Given the description of an element on the screen output the (x, y) to click on. 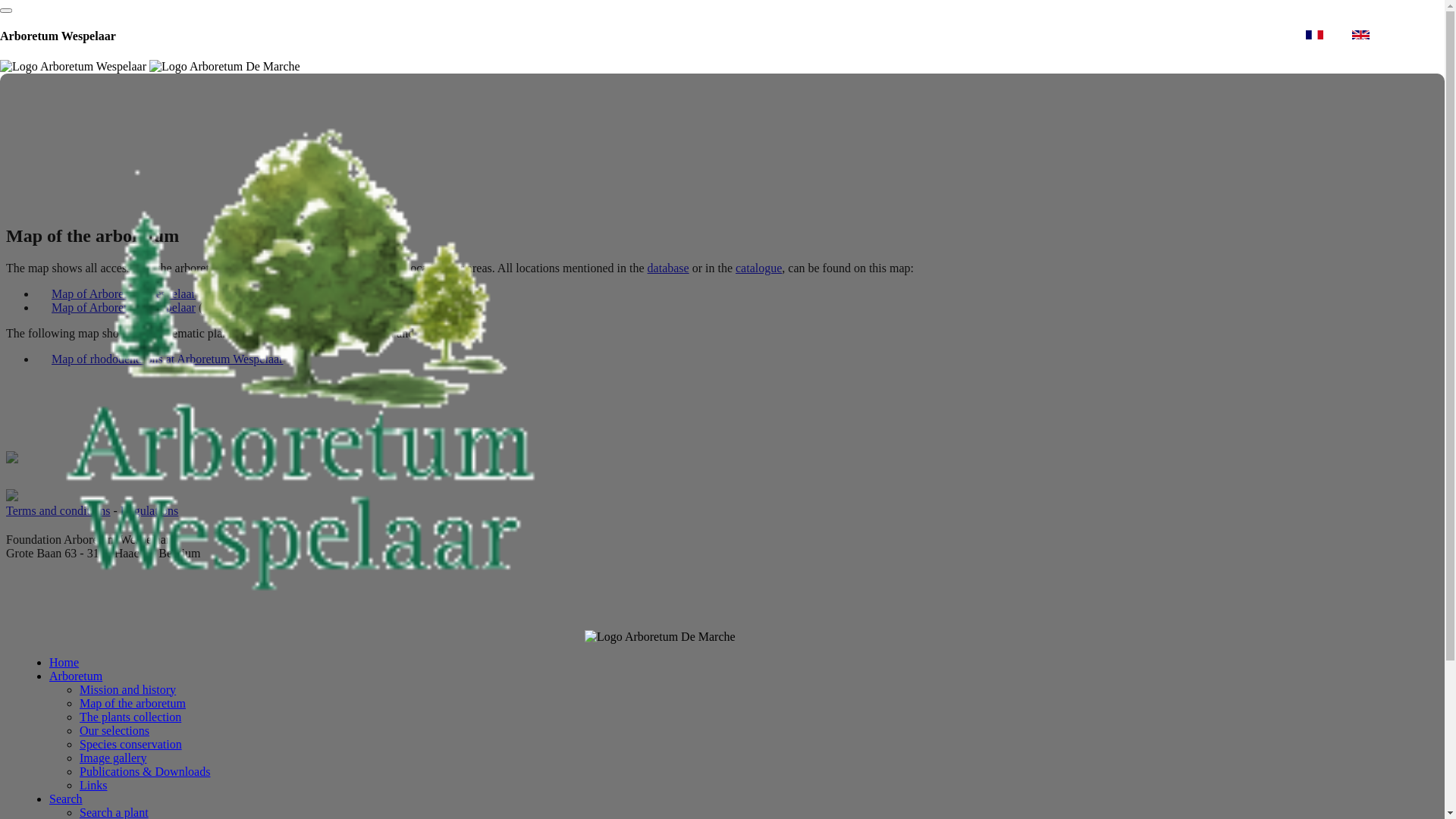
Home Element type: text (63, 661)
The plants collection Element type: text (130, 716)
EN Element type: text (1373, 34)
Species conservation Element type: text (130, 743)
Regulations Element type: text (149, 510)
Map of rhododendrons at Arboretum Wespelaar Element type: text (159, 361)
Image gallery Element type: text (112, 757)
database Element type: text (668, 267)
Search Element type: text (65, 798)
catalogue Element type: text (758, 267)
Arboretum Element type: text (75, 675)
FR Element type: text (1327, 34)
Terms and conditions Element type: text (58, 510)
Map of the arboretum Element type: text (132, 702)
NL Element type: text (1281, 34)
Our selections Element type: text (114, 730)
Mission and history Element type: text (127, 689)
Map of Arboretum Wespelaar Element type: text (115, 295)
Publications & Downloads Element type: text (144, 771)
Links Element type: text (92, 784)
Map of Arboretum Wespelaar Element type: text (115, 309)
